Given the description of an element on the screen output the (x, y) to click on. 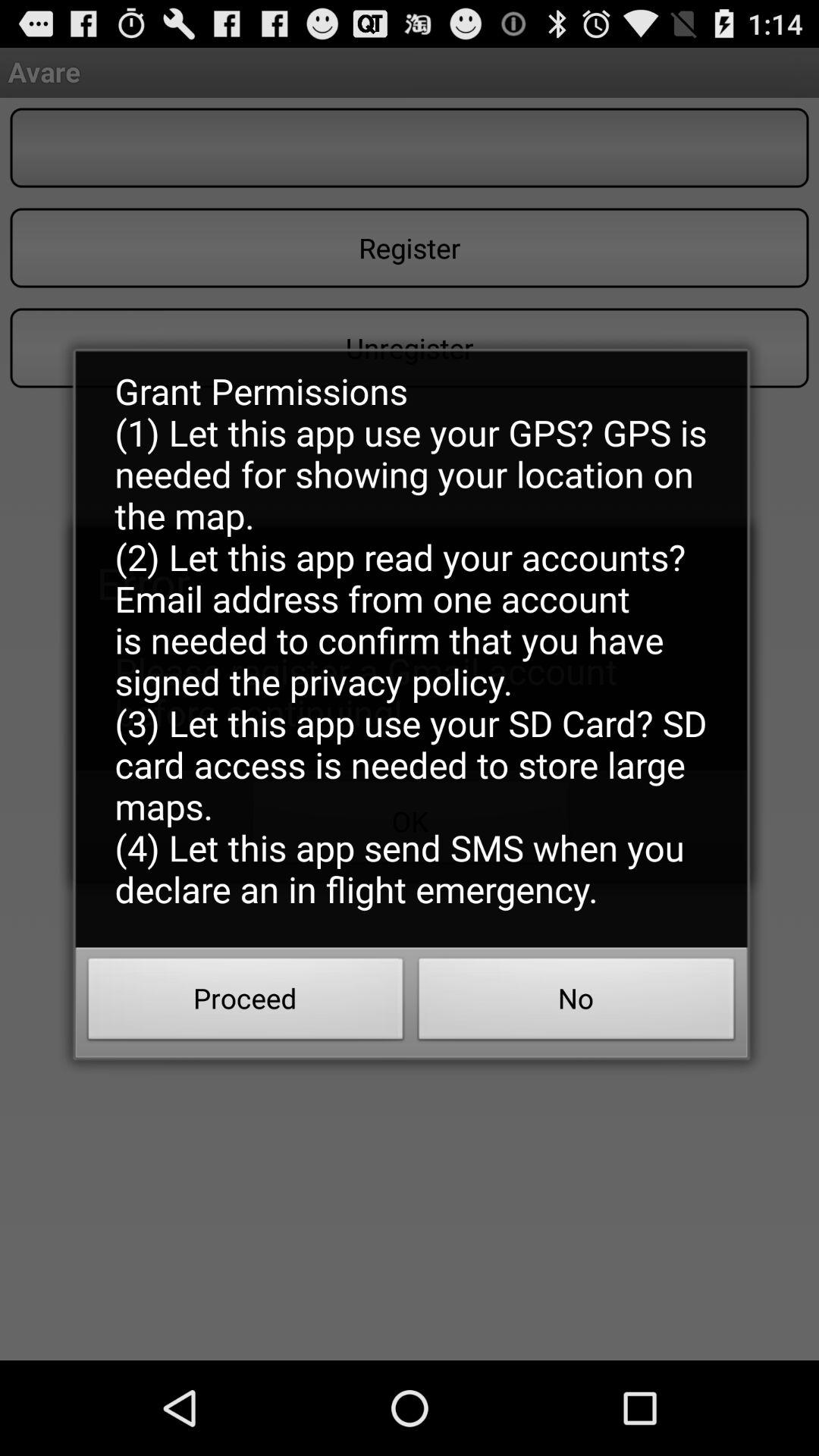
select the item next to the no icon (245, 1003)
